Given the description of an element on the screen output the (x, y) to click on. 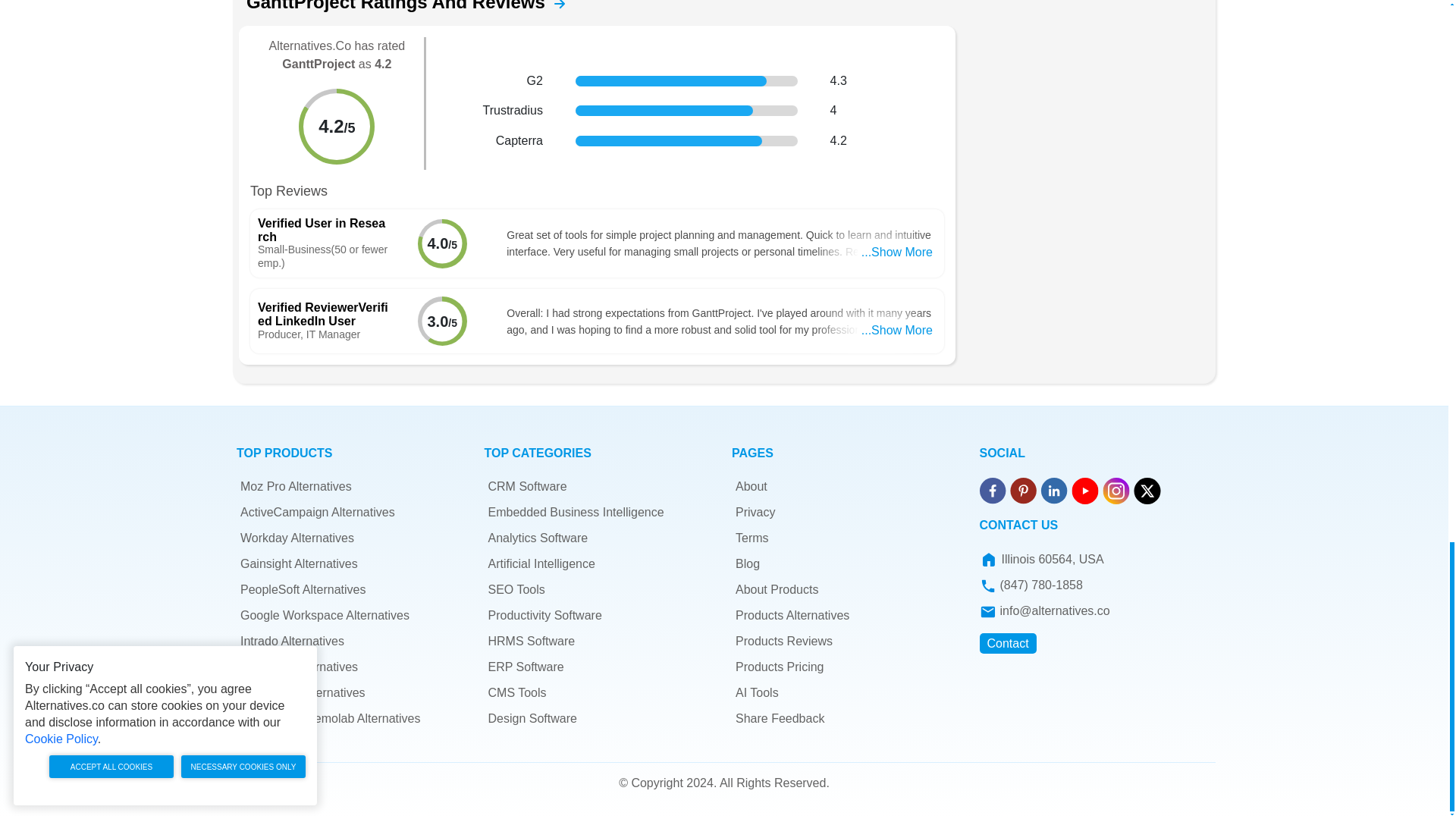
GanttProject Ratings And Reviews (559, 4)
Moz Pro Alternatives (296, 486)
GanttProject Ratings And Reviews (554, 6)
ActiveCampaign Alternatives (317, 512)
GanttProject Ratings and Reviews (554, 6)
